Given the description of an element on the screen output the (x, y) to click on. 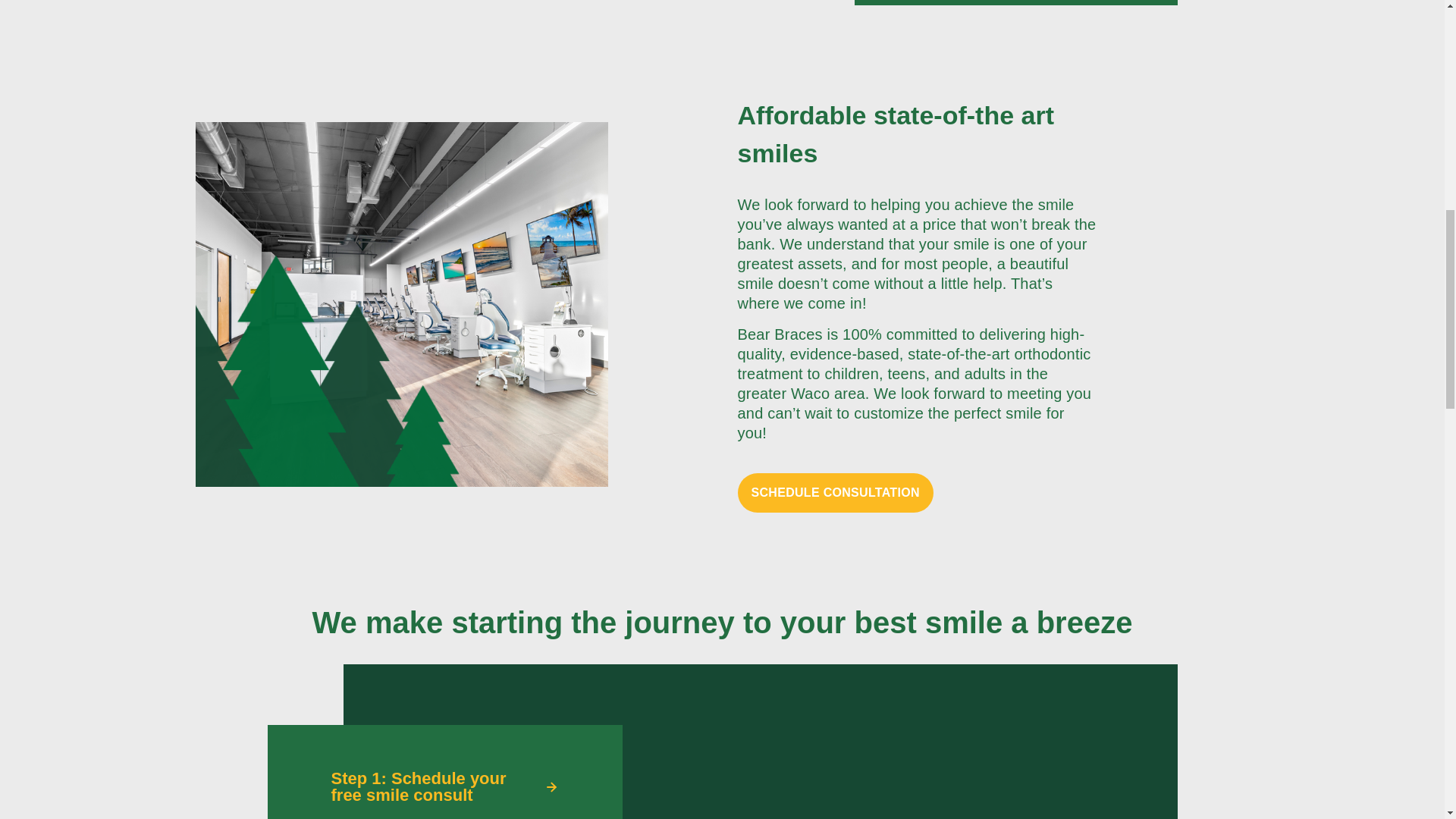
Step 1: Schedule your free smile consult (443, 786)
SCHEDULE CONSULTATION (834, 492)
